Given the description of an element on the screen output the (x, y) to click on. 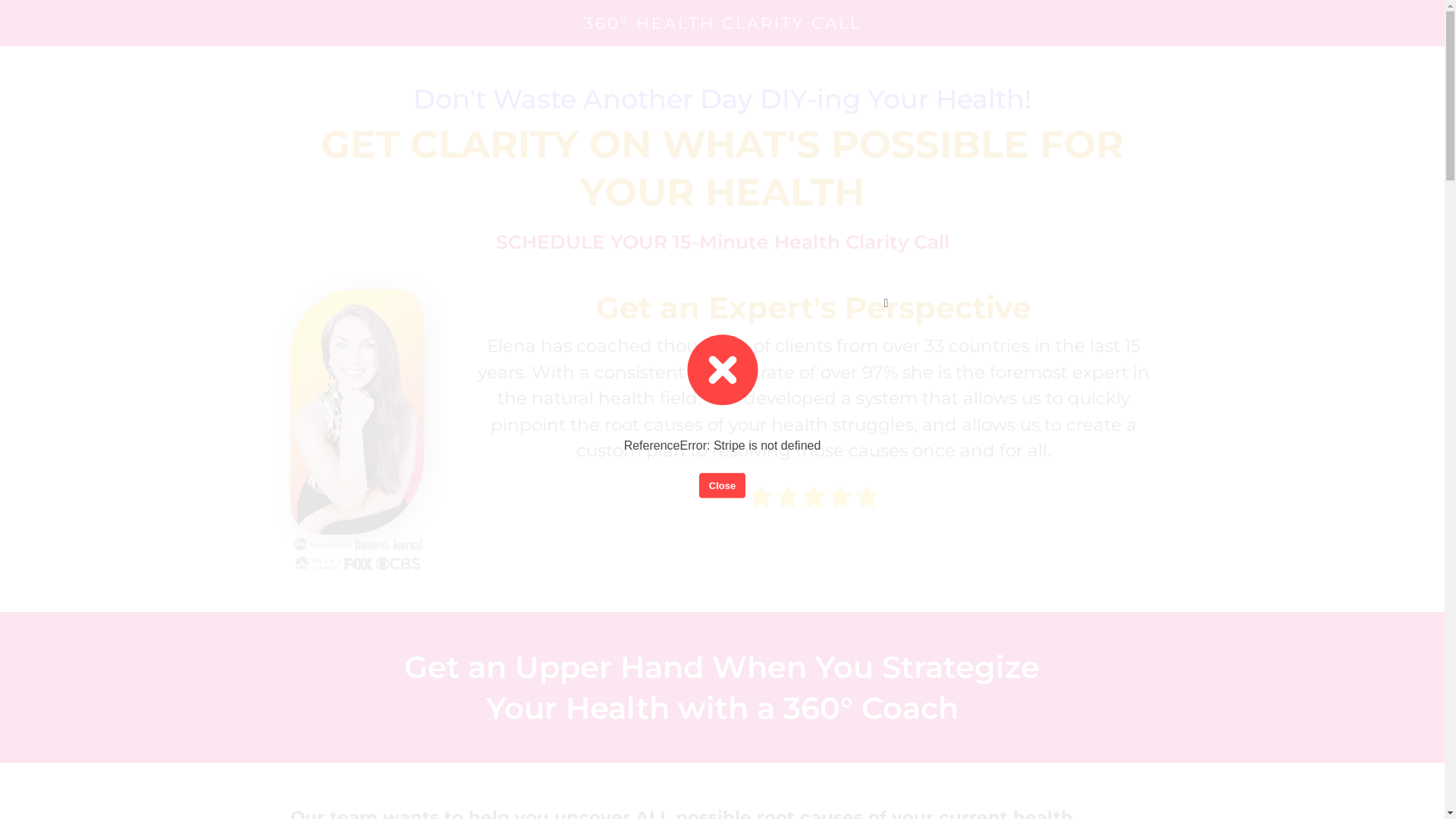
FEATURED Element type: hover (356, 554)
Close Element type: text (722, 485)
EB-7-28-21-3 Element type: hover (356, 411)
